Given the description of an element on the screen output the (x, y) to click on. 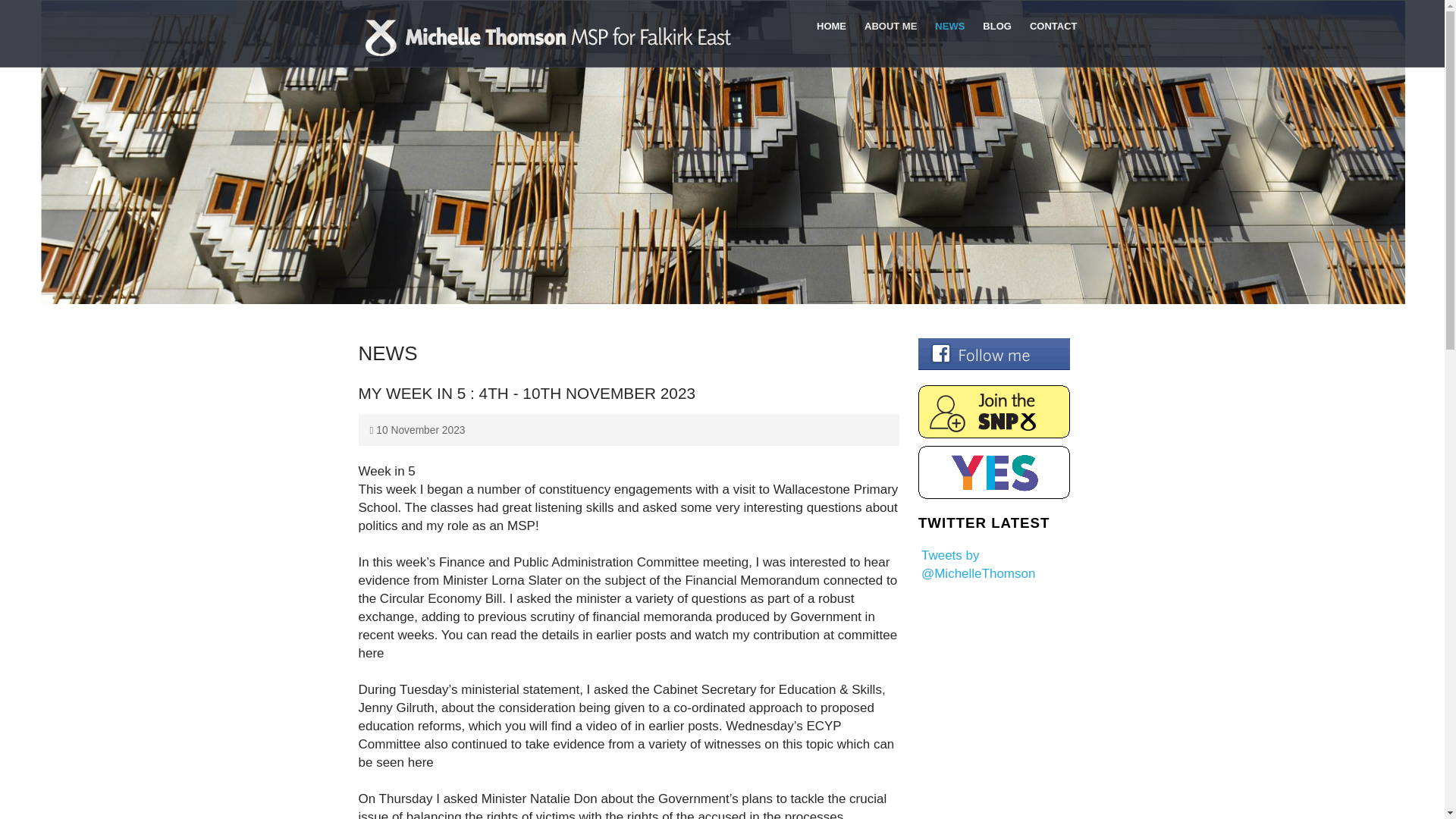
BLOG (997, 33)
ABOUT ME (891, 33)
NEWS (950, 33)
HOME (832, 33)
Michelle Thomson MP (547, 37)
CONTACT (1053, 33)
